Given the description of an element on the screen output the (x, y) to click on. 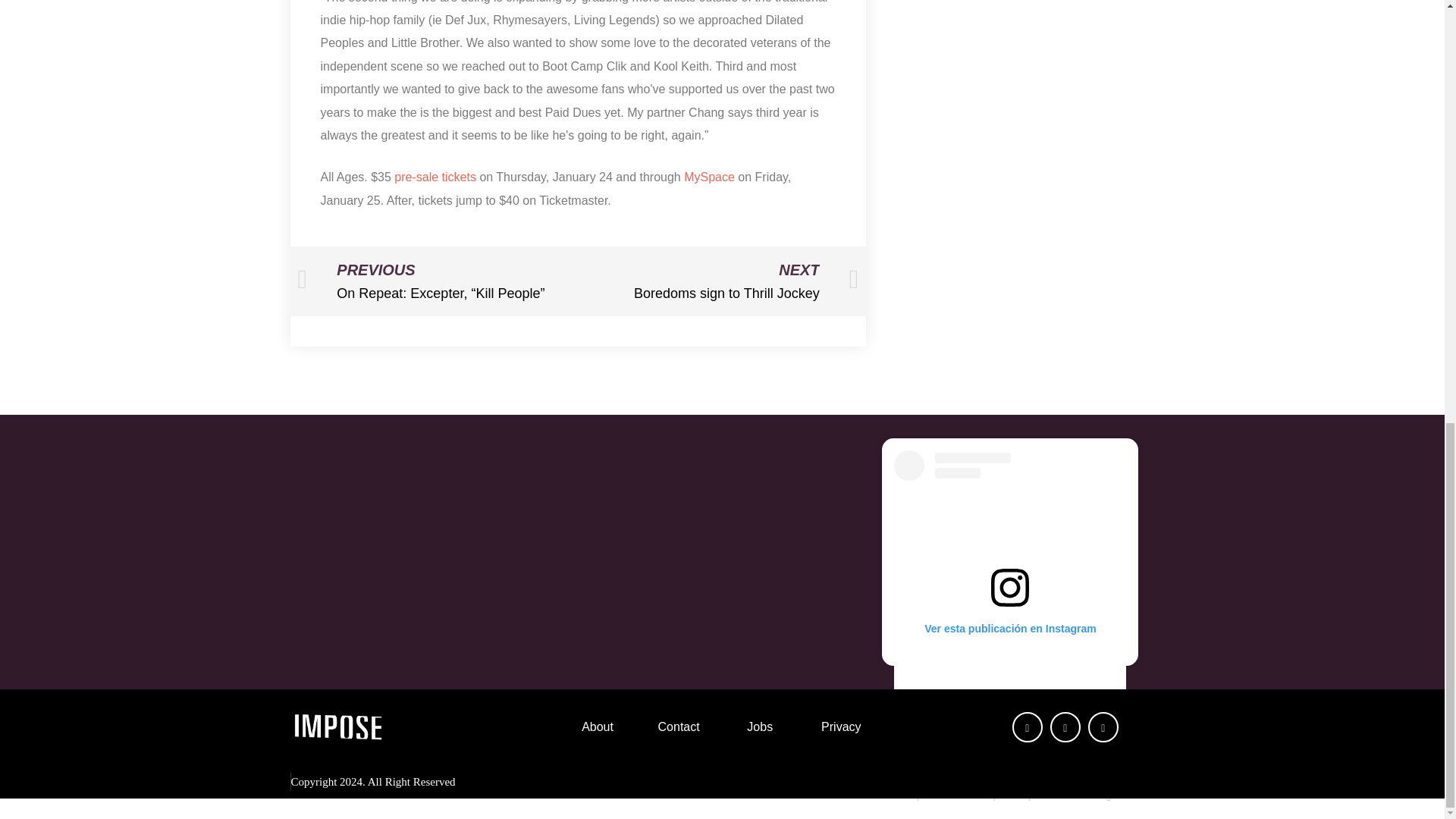
pre-sale tickets (435, 177)
Twitter Timeline (718, 280)
MySpace (721, 551)
